Given the description of an element on the screen output the (x, y) to click on. 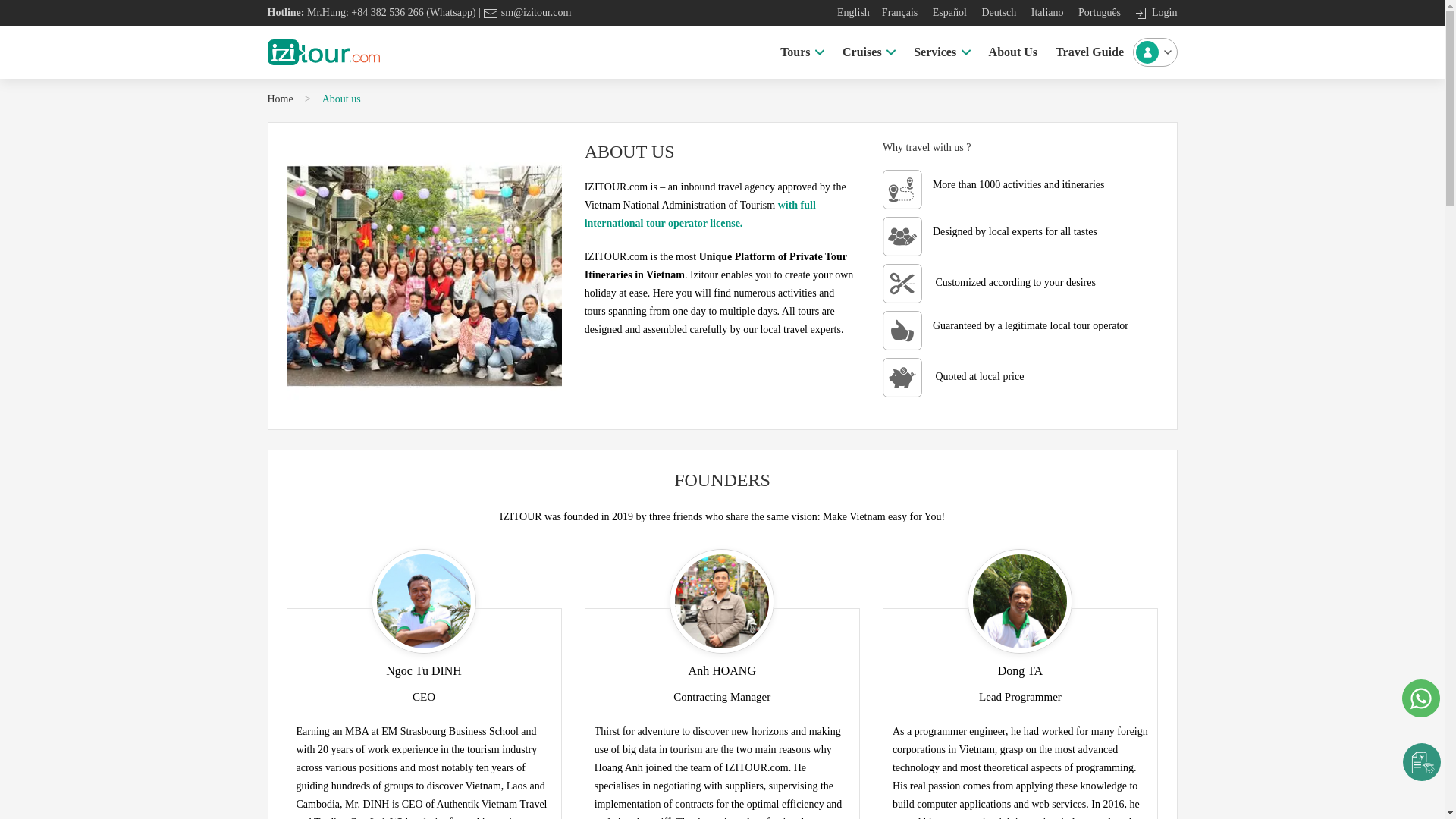
Home (801, 52)
Deutsch (279, 98)
Login (997, 12)
English (1154, 12)
Customize tour (941, 52)
Travel Guide (868, 52)
